Given the description of an element on the screen output the (x, y) to click on. 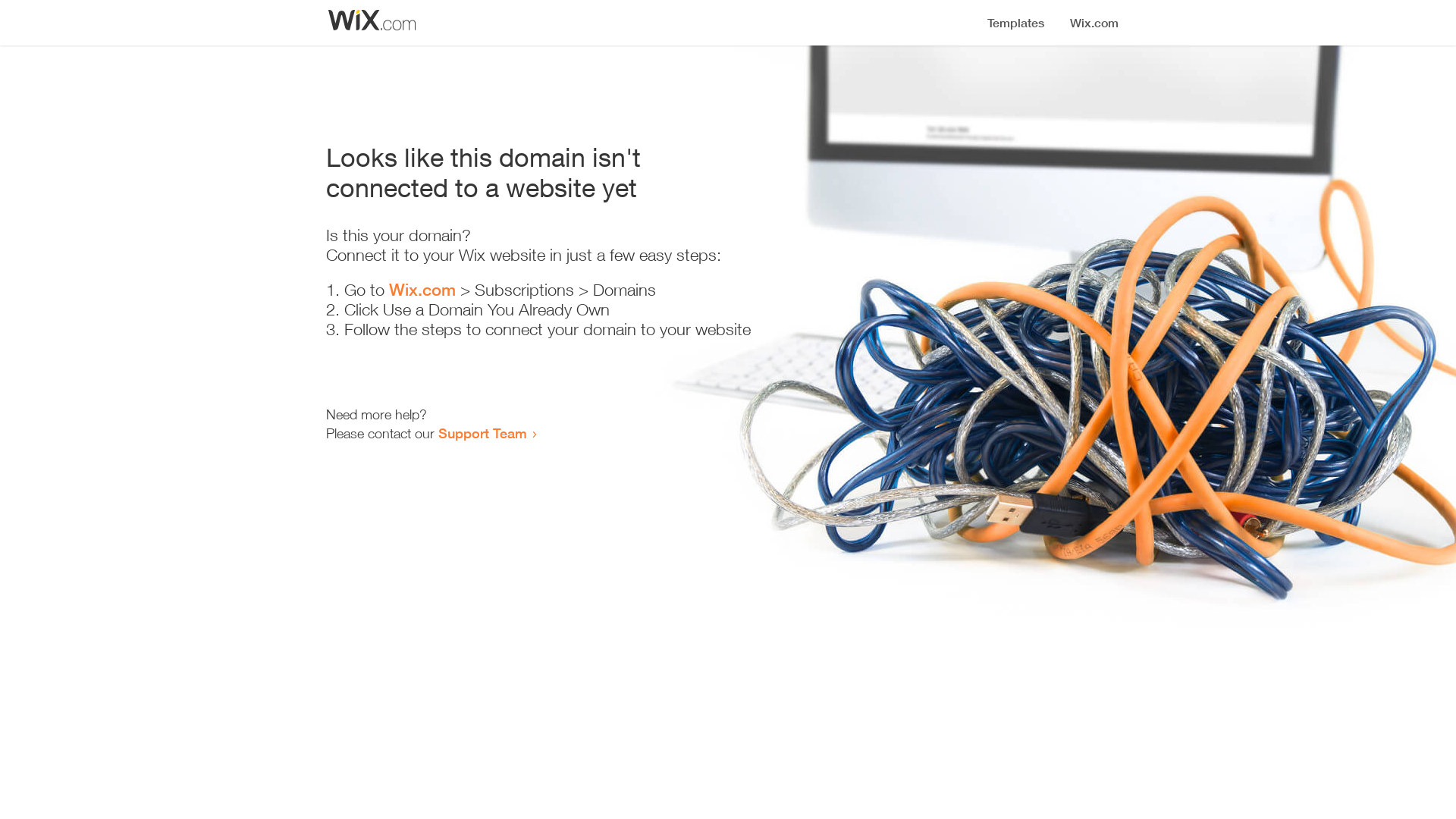
Wix.com Element type: text (422, 289)
Support Team Element type: text (482, 432)
